Given the description of an element on the screen output the (x, y) to click on. 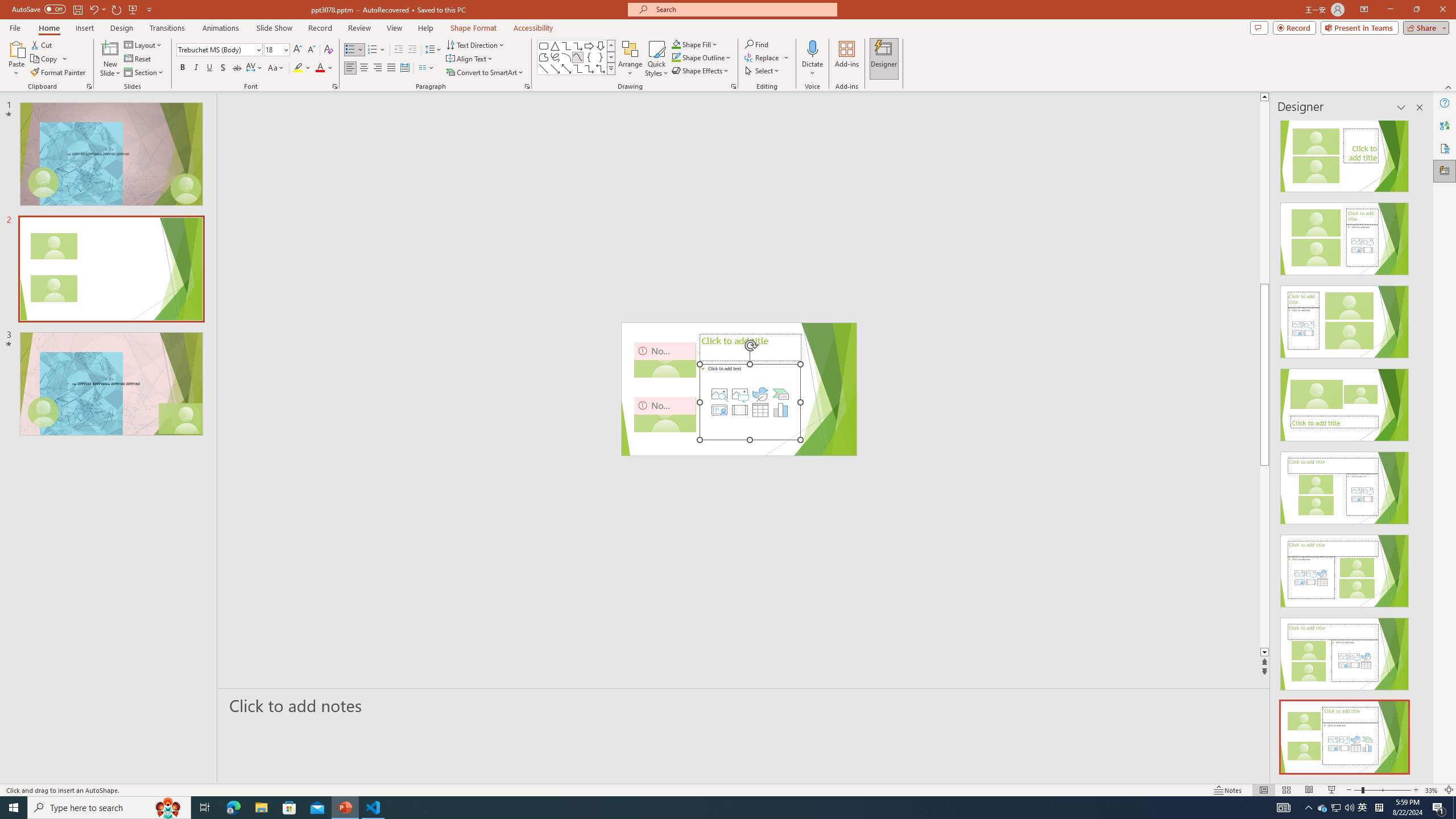
Camera 3, No camera detected. (685, 388)
